Given the description of an element on the screen output the (x, y) to click on. 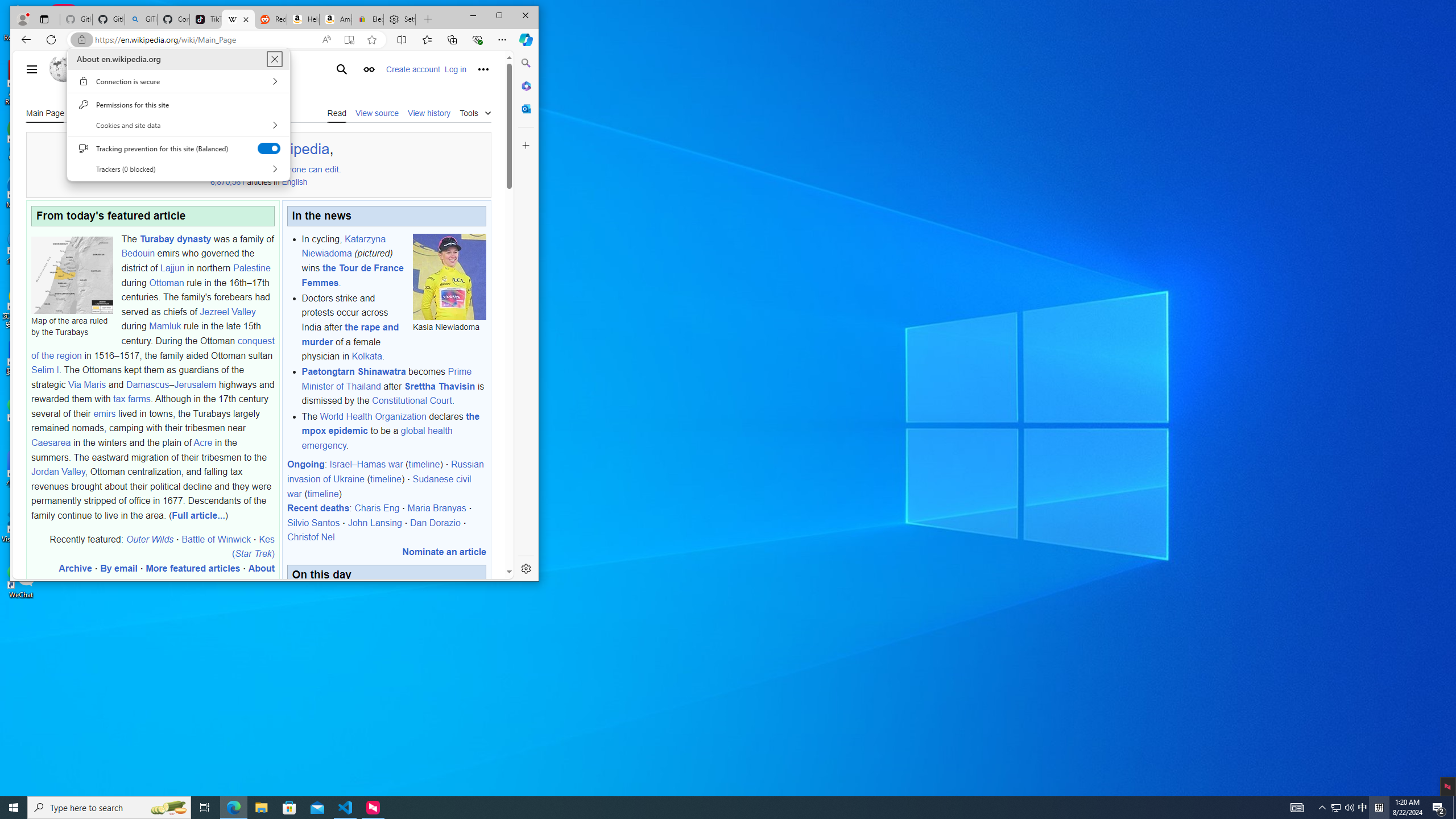
More featured articles (192, 568)
Tools (476, 111)
Caesarea (50, 442)
Log in (454, 68)
Read (336, 112)
Map of the area ruled by the Turabays (71, 274)
Archive (74, 568)
Battle of Winwick (216, 538)
Maximize (499, 15)
Create account (412, 68)
